Given the description of an element on the screen output the (x, y) to click on. 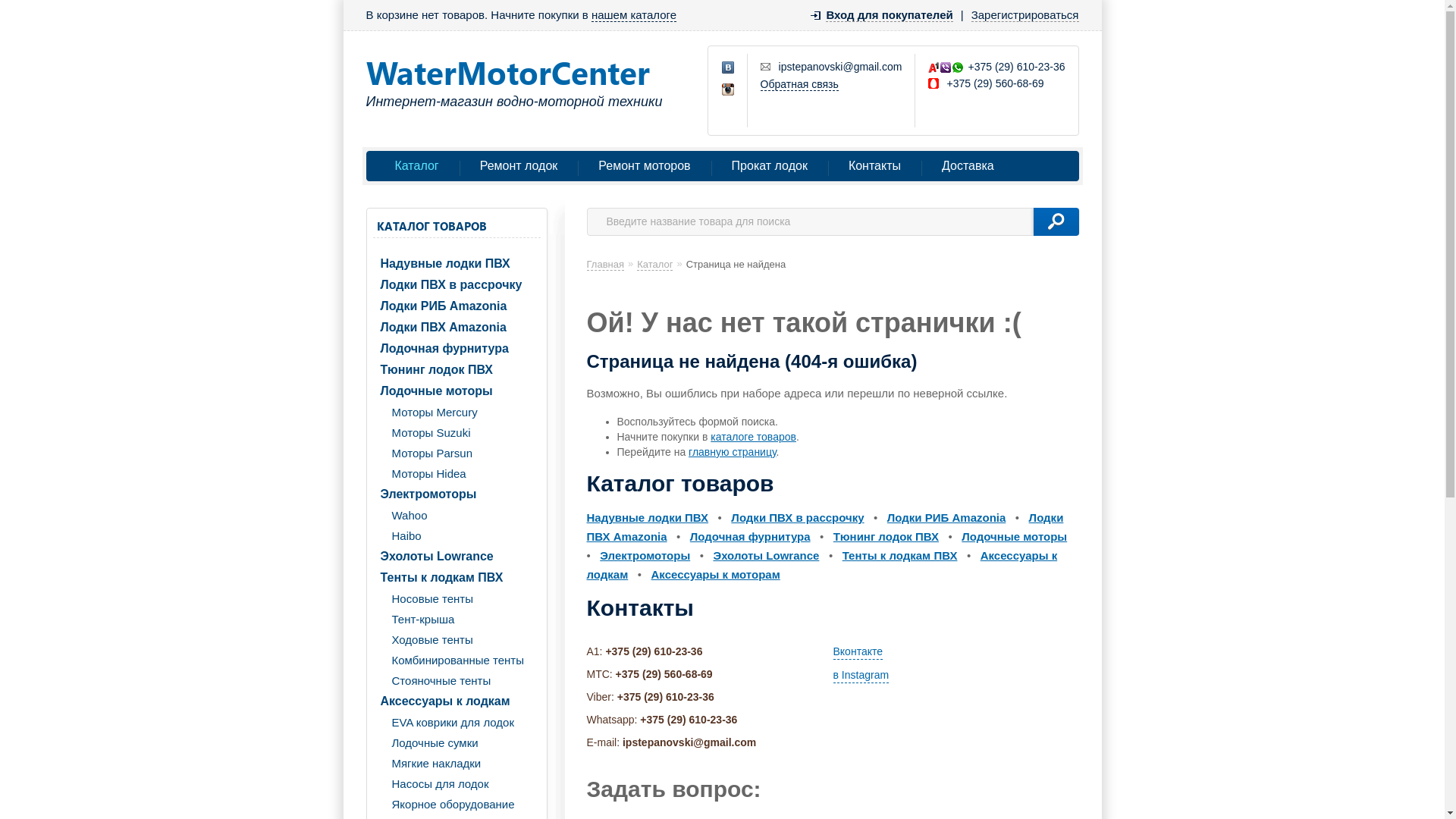
  Element type: text (1055, 221)
Haibo Element type: text (456, 535)
Wahoo Element type: text (456, 515)
